Given the description of an element on the screen output the (x, y) to click on. 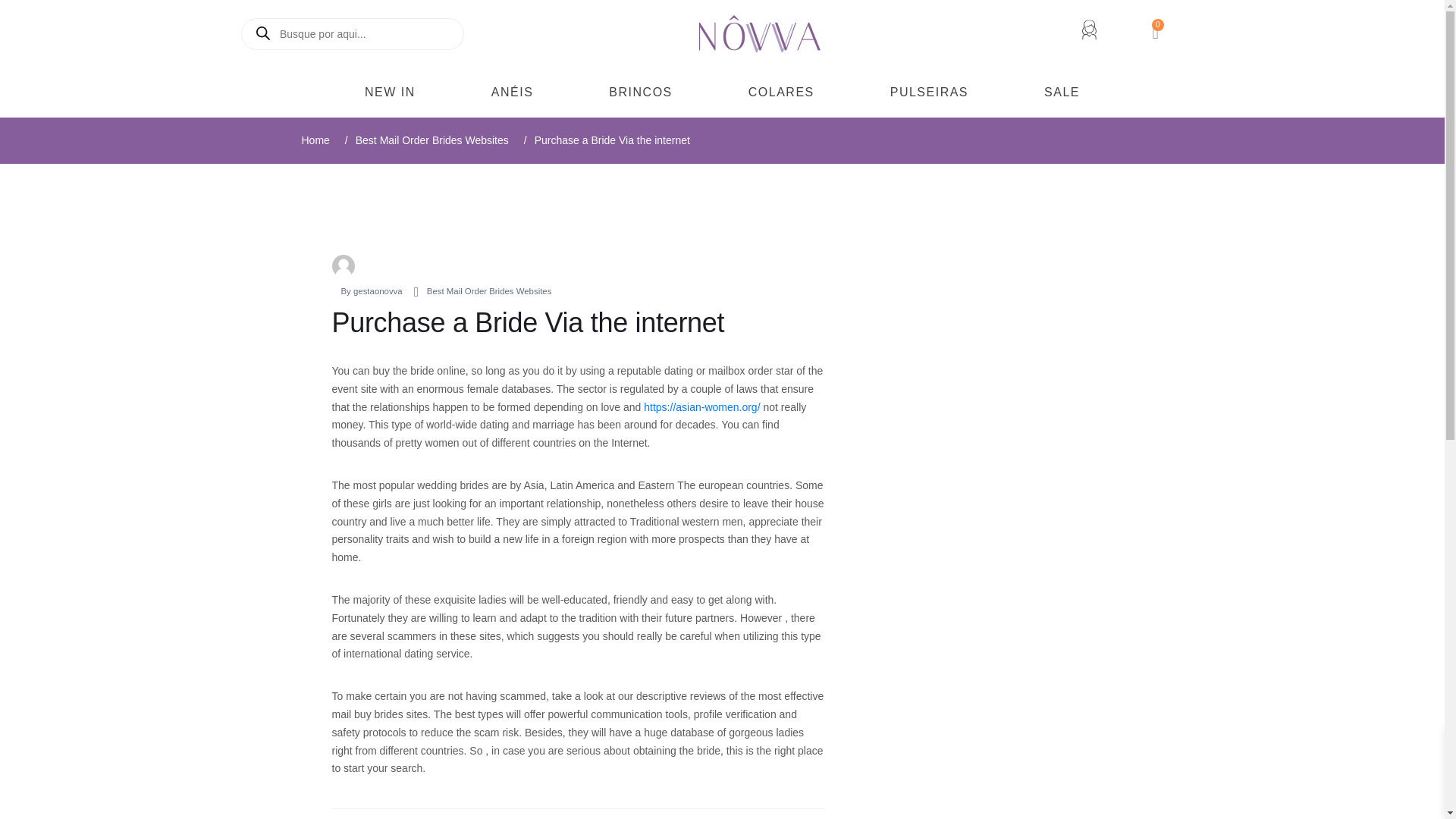
SALE (1062, 92)
BRINCOS (640, 92)
PULSEIRAS (928, 92)
NEW IN (389, 92)
COLARES (780, 92)
